Given the description of an element on the screen output the (x, y) to click on. 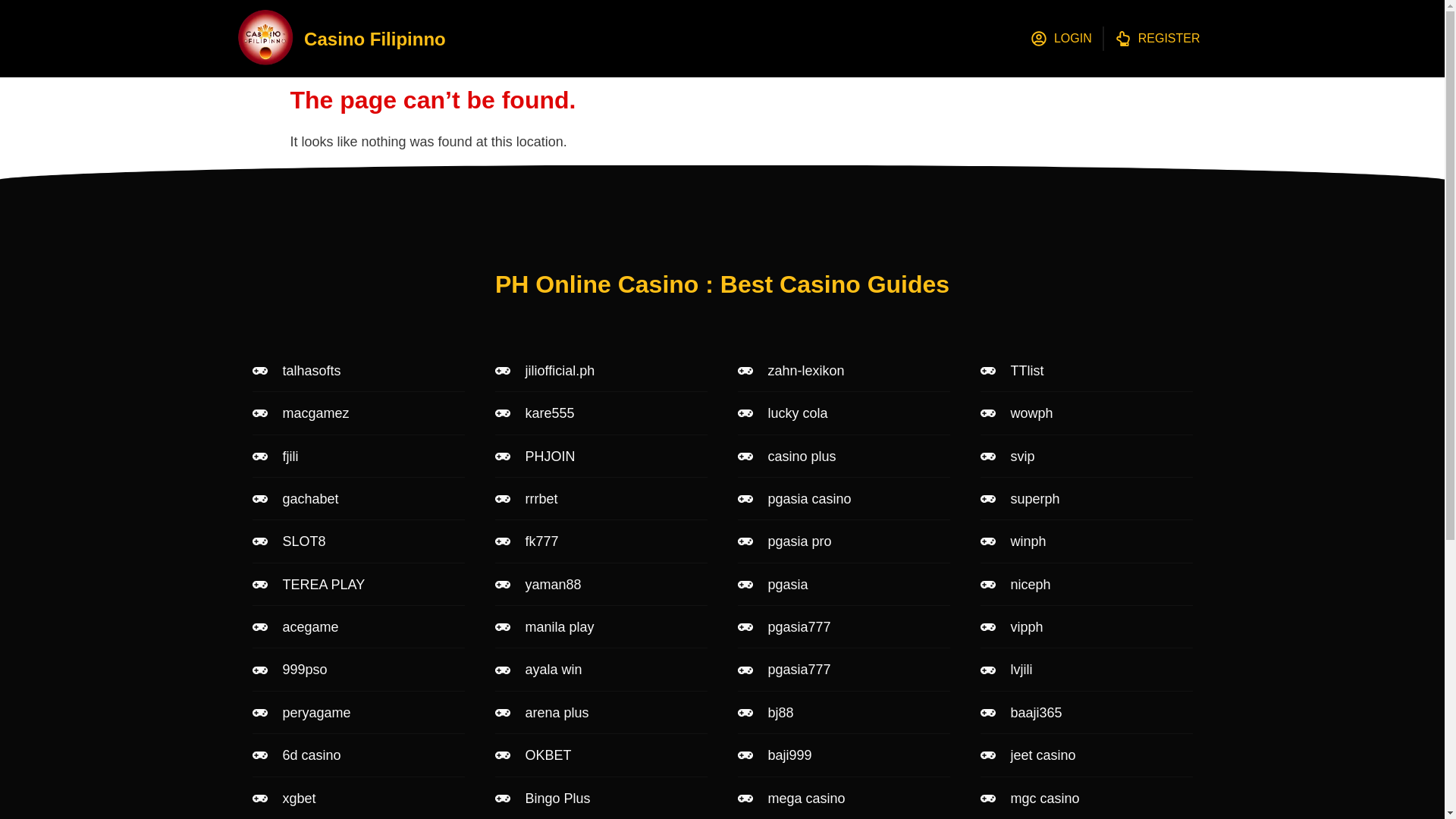
LOGIN (1061, 38)
talhasofts (357, 370)
xgbet (357, 798)
jiliofficial.ph (600, 370)
casino plus (842, 456)
pgasia casino (842, 498)
acegame (357, 627)
arena plus (600, 712)
OKBET (600, 754)
peryagame (357, 712)
